Given the description of an element on the screen output the (x, y) to click on. 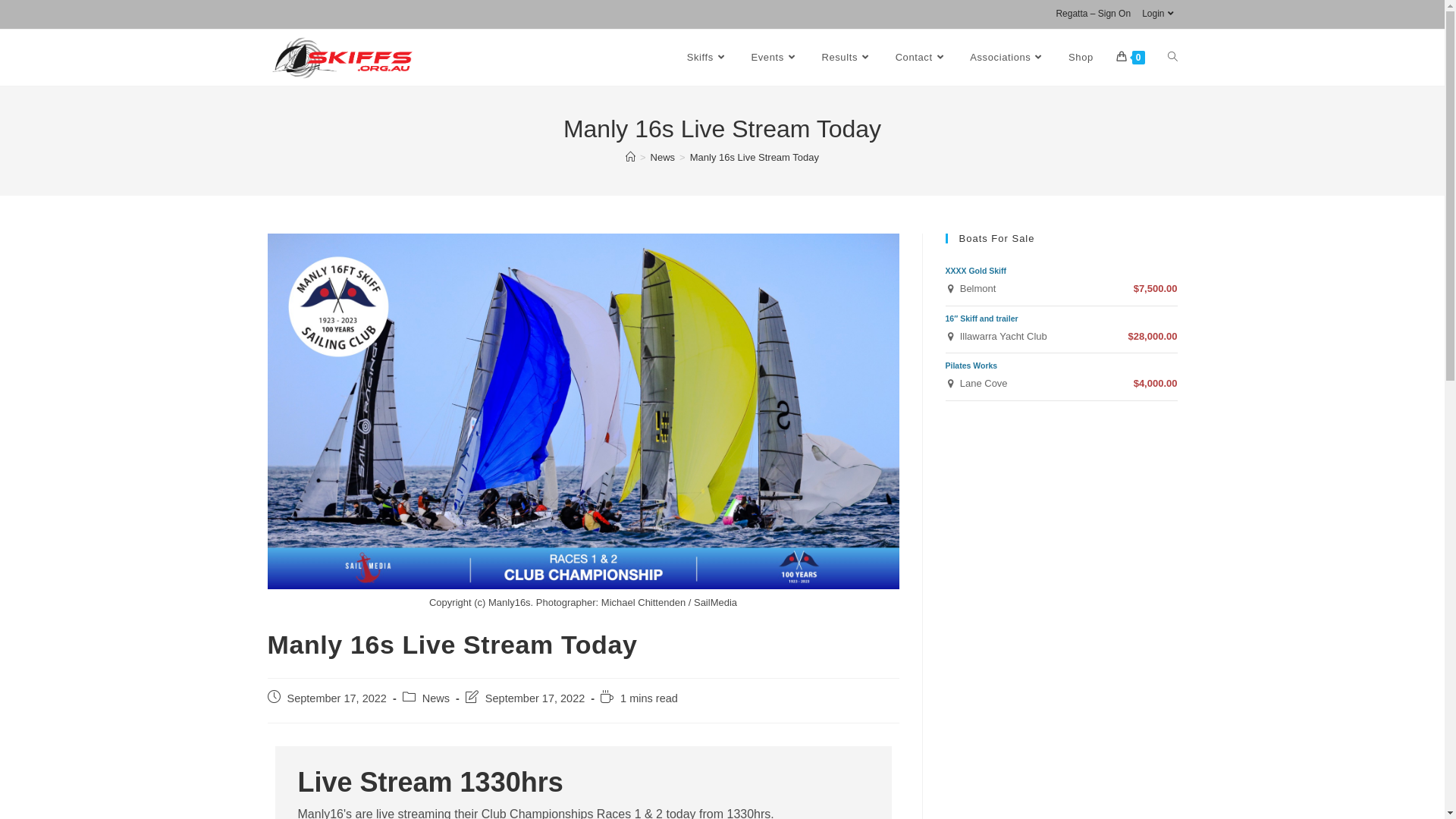
Shop Element type: text (1080, 57)
0 Element type: text (1130, 57)
Events Element type: text (775, 57)
News Element type: text (662, 157)
News Element type: text (435, 698)
Login Element type: text (1159, 14)
Results Element type: text (846, 57)
XXXX Gold Skiff Element type: text (975, 270)
Contact Element type: text (921, 57)
Manly 16s Live Stream Today Element type: text (754, 157)
Pilates Works Element type: text (970, 365)
Skiffs Element type: text (707, 57)
Associations Element type: text (1007, 57)
